Given the description of an element on the screen output the (x, y) to click on. 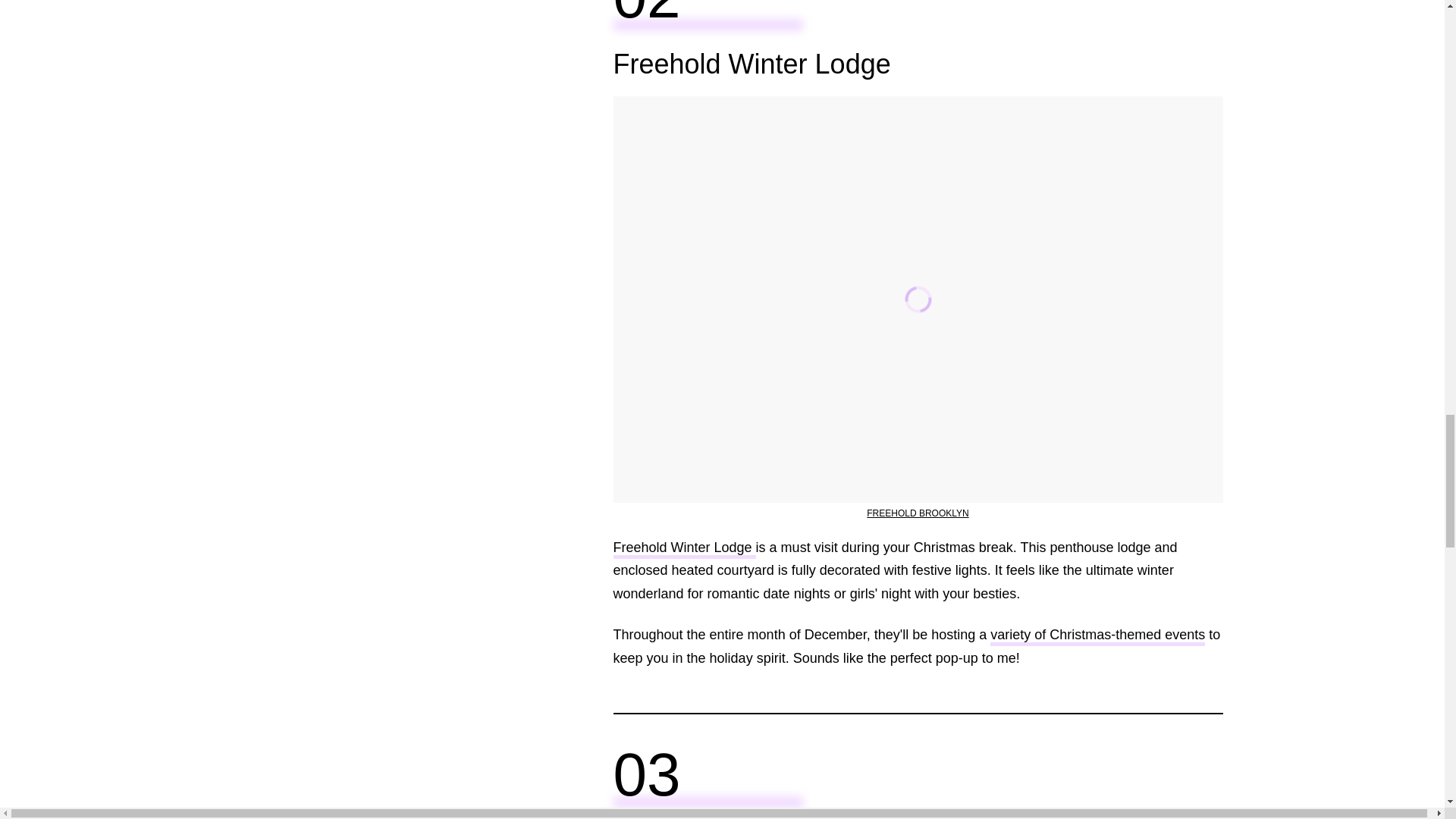
variety of Christmas-themed events (1097, 636)
FREEHOLD BROOKLYN (917, 512)
Freehold Winter Lodge (683, 548)
